Given the description of an element on the screen output the (x, y) to click on. 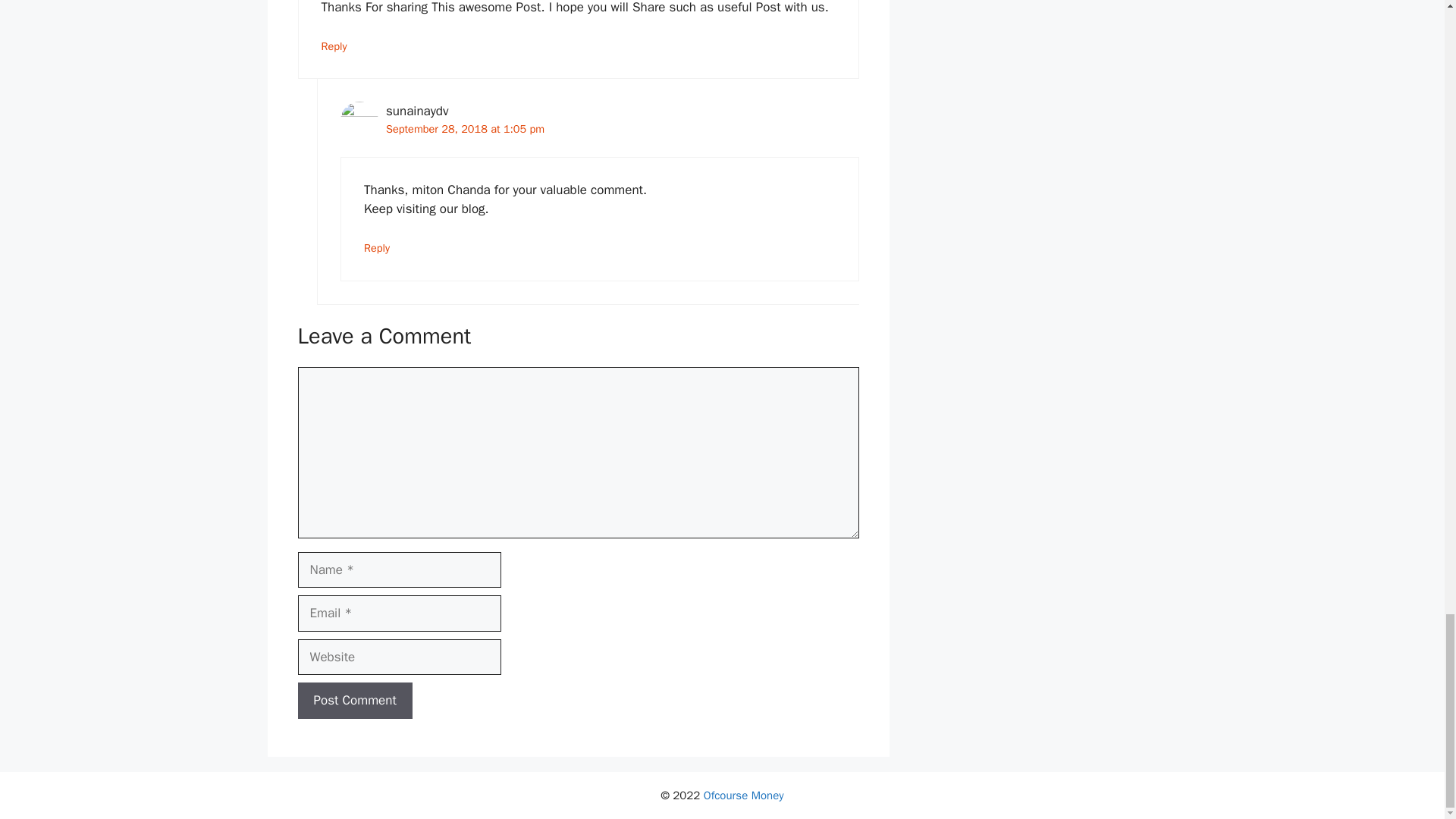
Post Comment (354, 700)
Reply (377, 247)
Reply (334, 46)
September 28, 2018 at 1:05 pm (464, 128)
Post Comment (354, 700)
